Given the description of an element on the screen output the (x, y) to click on. 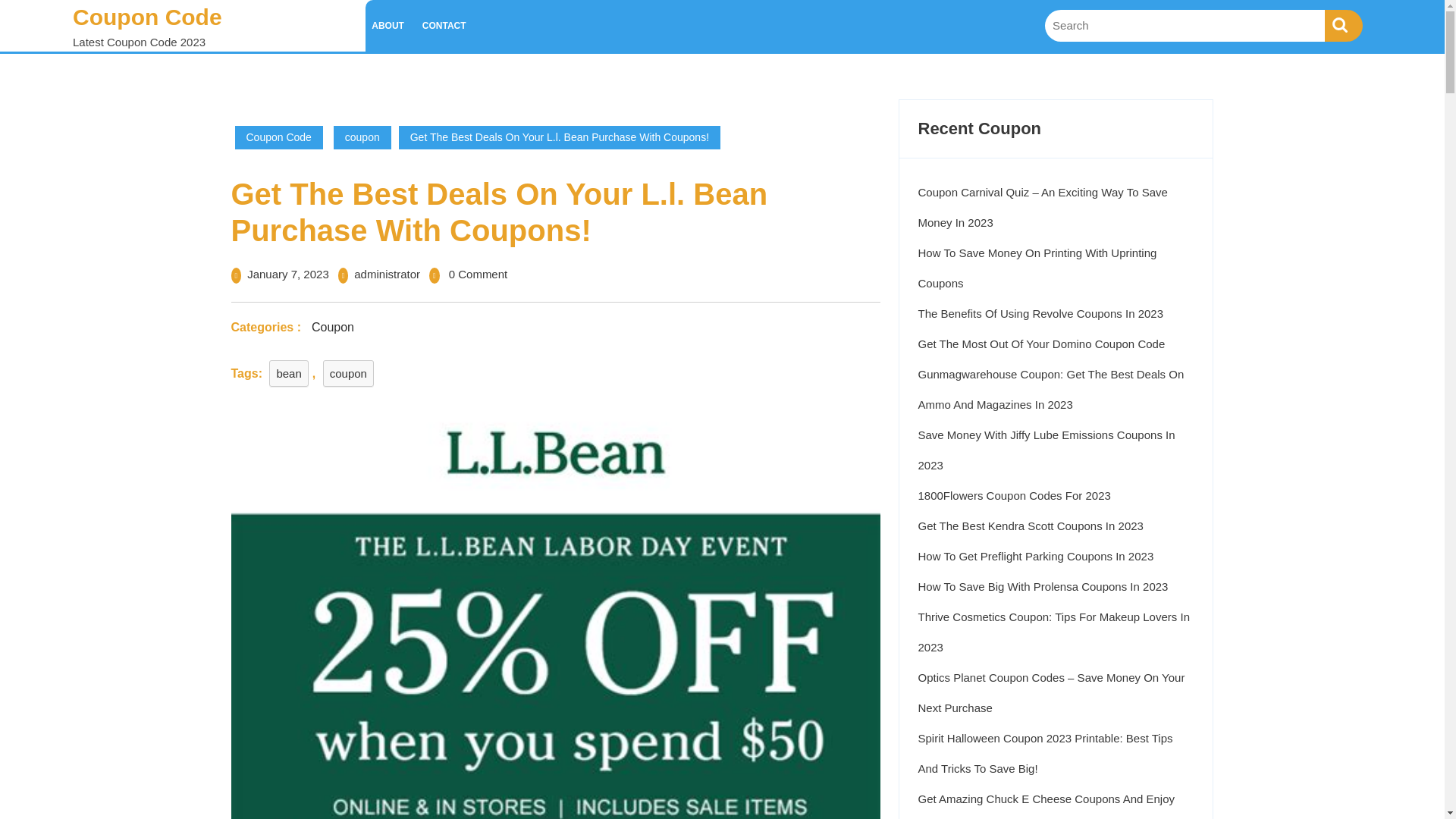
Coupon Code (278, 137)
coupon (362, 137)
1800Flowers Coupon Codes For 2023 (1013, 495)
Thrive Cosmetics Coupon: Tips For Makeup Lovers In 2023 (1053, 631)
How To Save Money On Printing With Uprinting Coupons (1036, 267)
How To Save Big With Prolensa Coupons In 2023 (1042, 585)
Coupon (332, 326)
Coupon Code (147, 16)
The Benefits Of Using Revolve Coupons In 2023 (1040, 313)
coupon (348, 372)
Search (1343, 25)
Get The Most Out Of Your Domino Coupon Code (1040, 343)
